Given the description of an element on the screen output the (x, y) to click on. 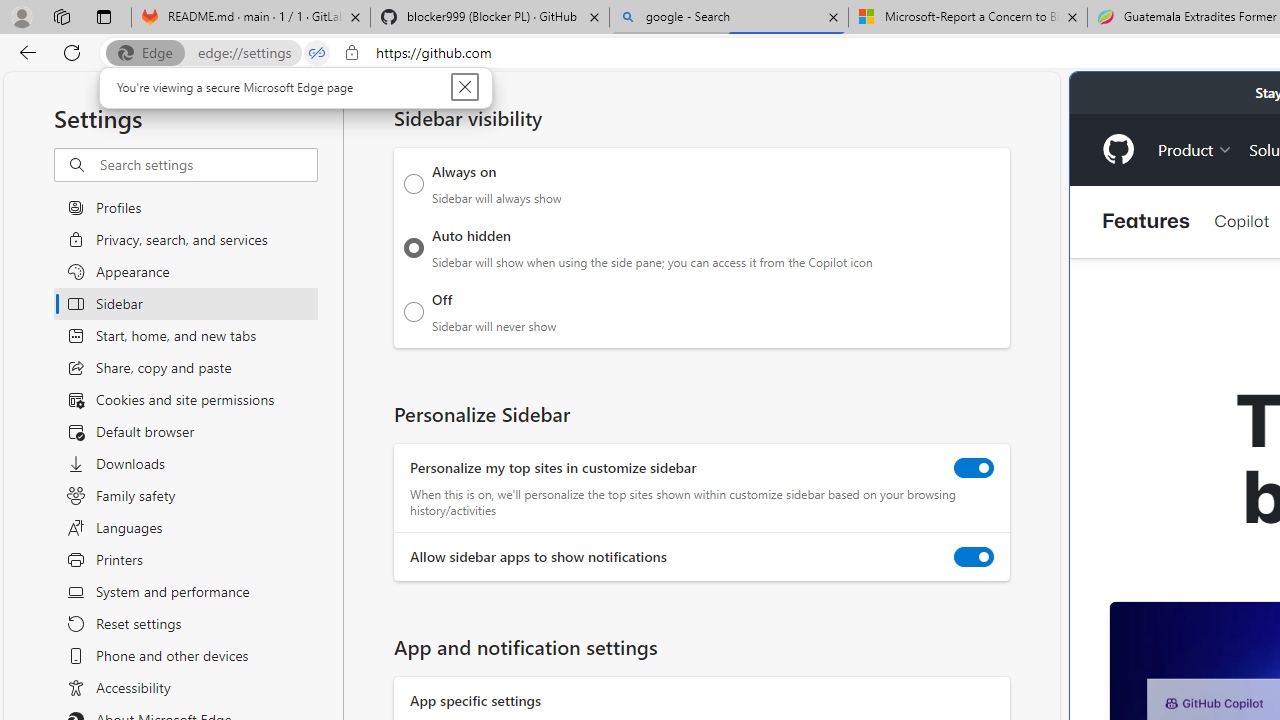
Search settings (207, 165)
Microsoft-Report a Concern to Bing (967, 17)
Copilot (1241, 220)
Product (1195, 148)
